Given the description of an element on the screen output the (x, y) to click on. 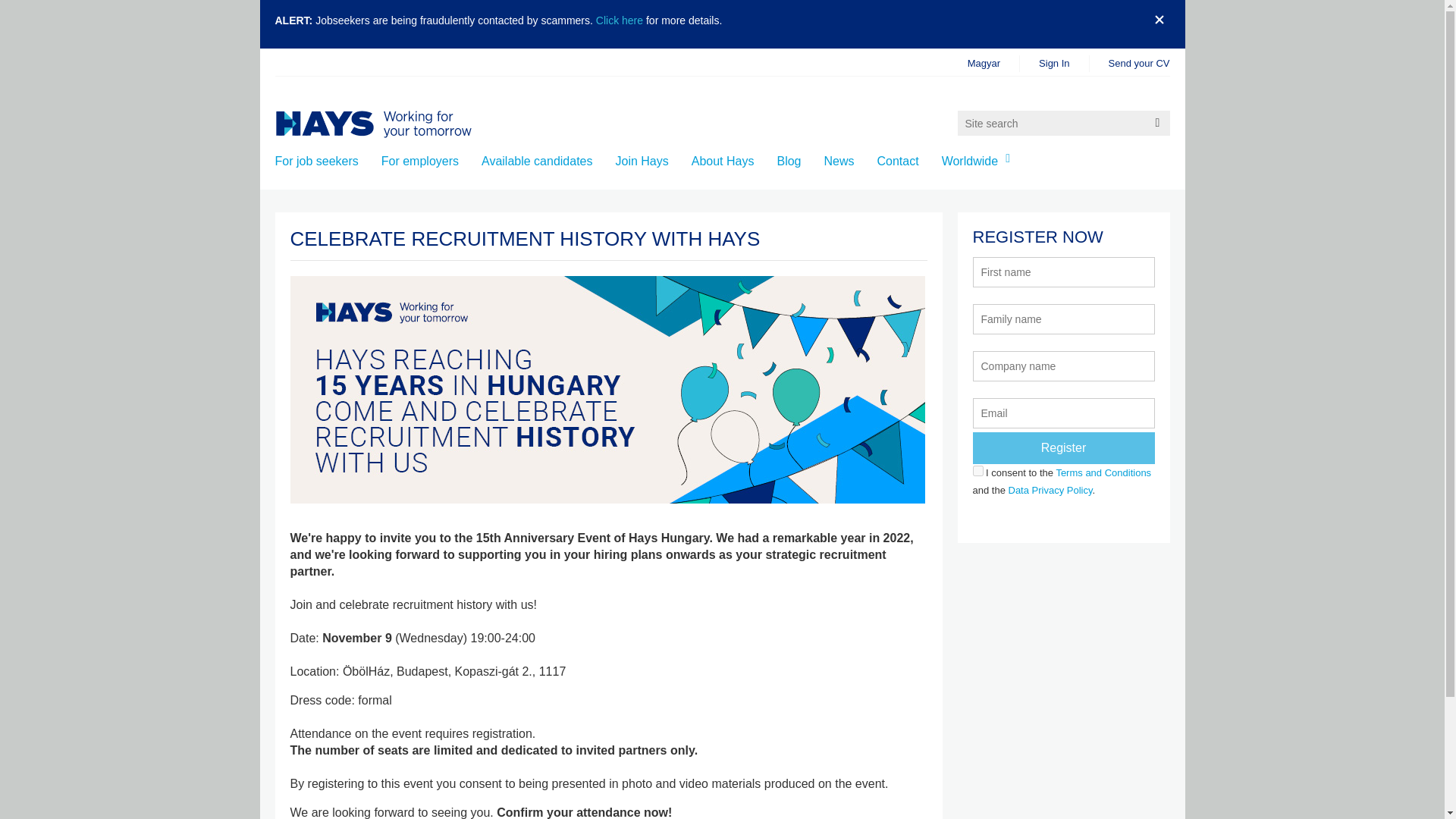
Contact (897, 160)
on (977, 470)
For employers (419, 160)
Go to Hays Hungary (392, 124)
Worldwide (979, 160)
Blog (788, 160)
Send your CV (1129, 62)
Available candidates (536, 160)
News (838, 160)
About Hays (722, 160)
